Given the description of an element on the screen output the (x, y) to click on. 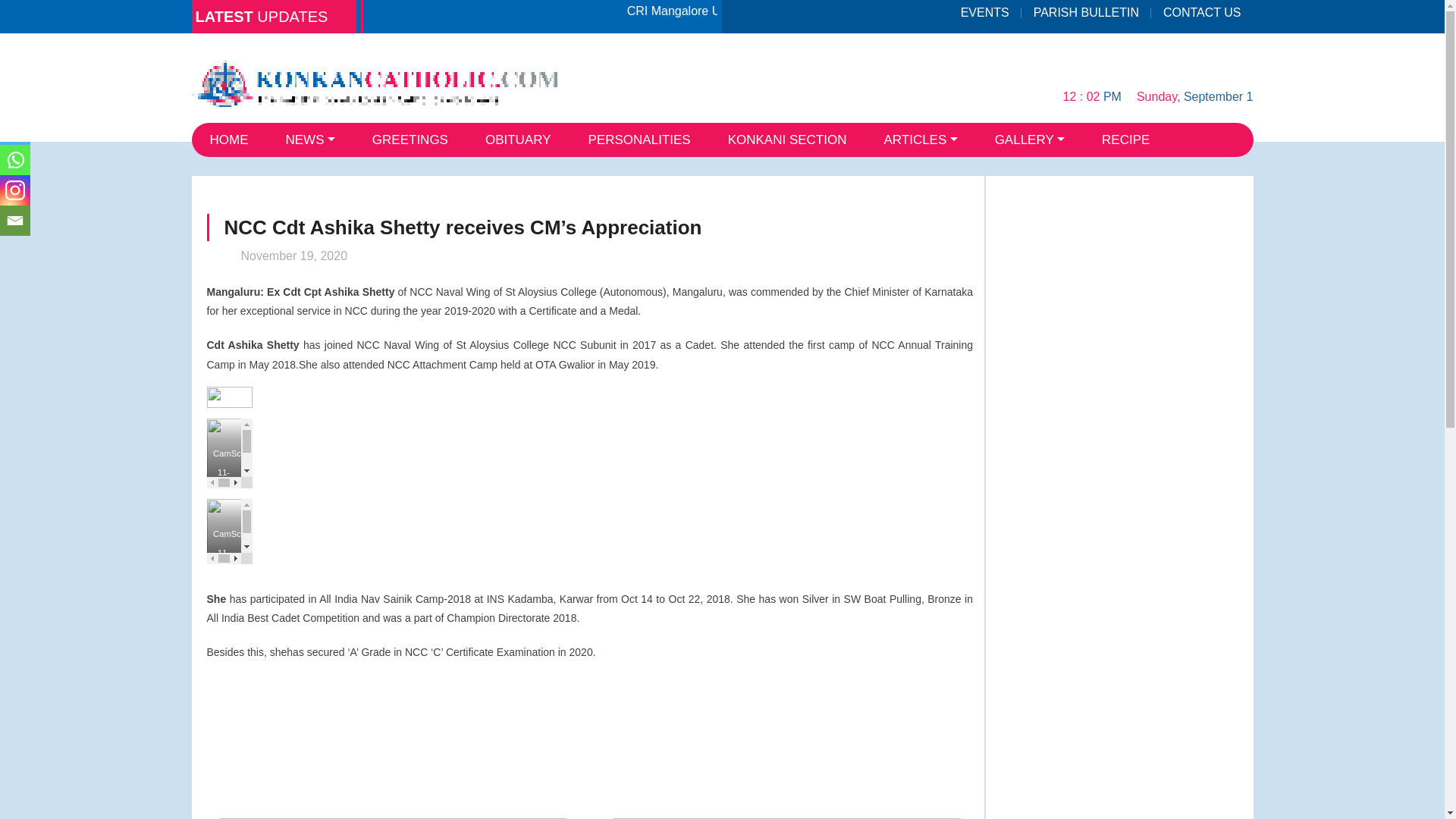
EVENTS (985, 12)
Personalities (639, 139)
PERSONALITIES (639, 139)
CONTACT US (1201, 12)
Articles (919, 139)
Contact Us (1201, 12)
Events (985, 12)
GREETINGS (409, 139)
GALLERY (1029, 139)
